Given the description of an element on the screen output the (x, y) to click on. 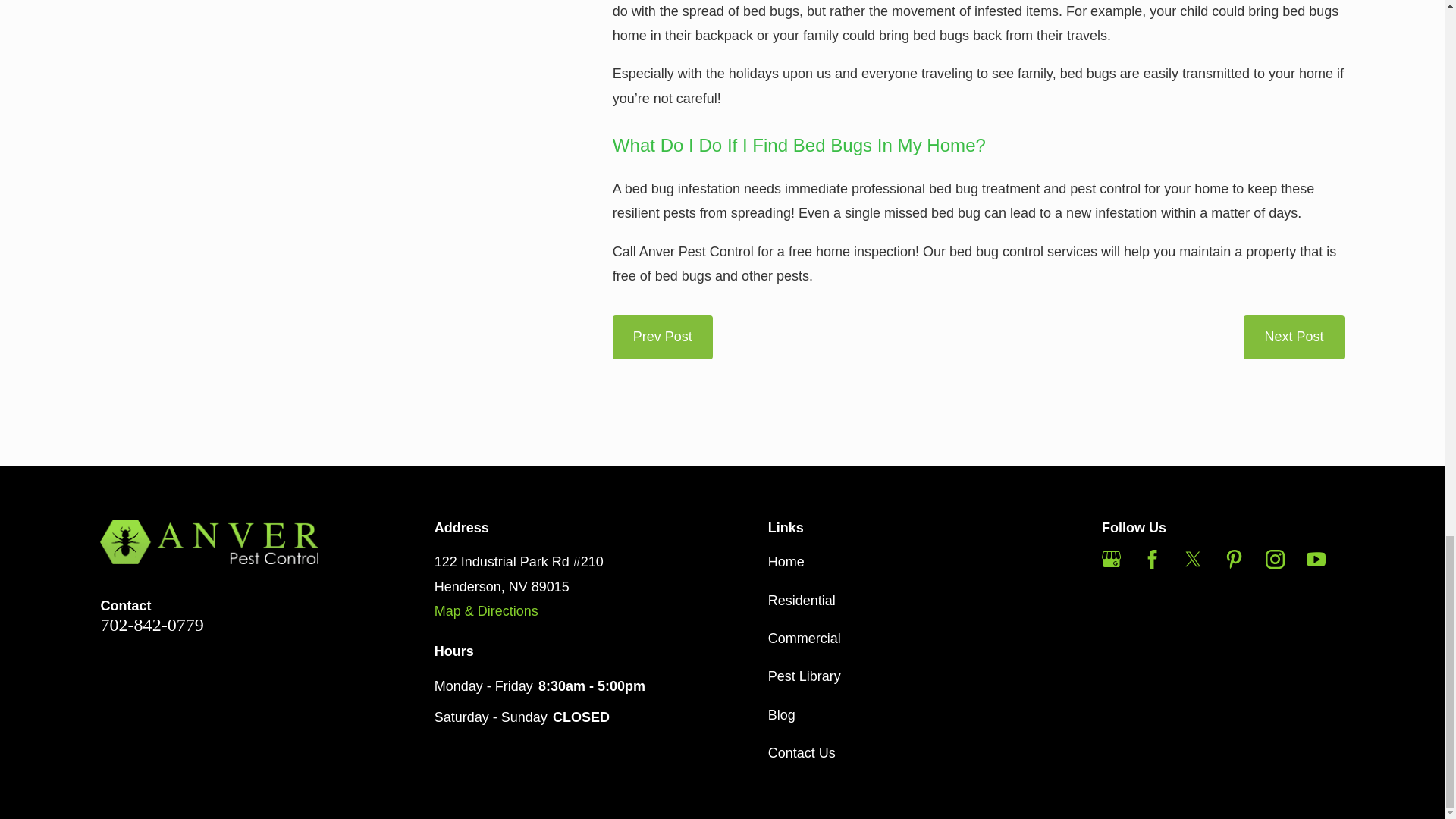
Twitter (1192, 558)
Google Business Profile (1111, 558)
Facebook (1151, 558)
Home (209, 542)
